Given the description of an element on the screen output the (x, y) to click on. 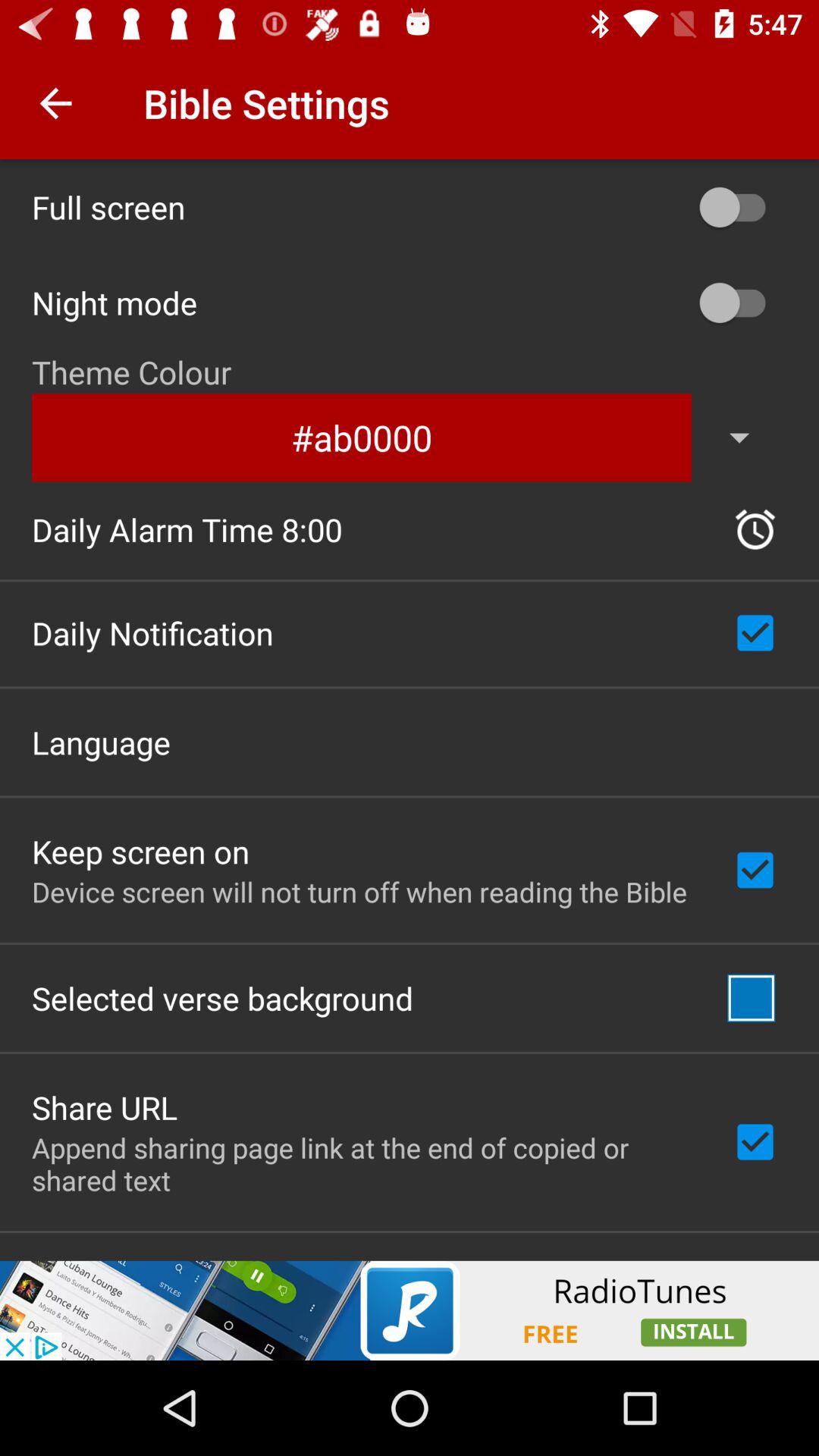
toggle alarm settings (755, 529)
